Given the description of an element on the screen output the (x, y) to click on. 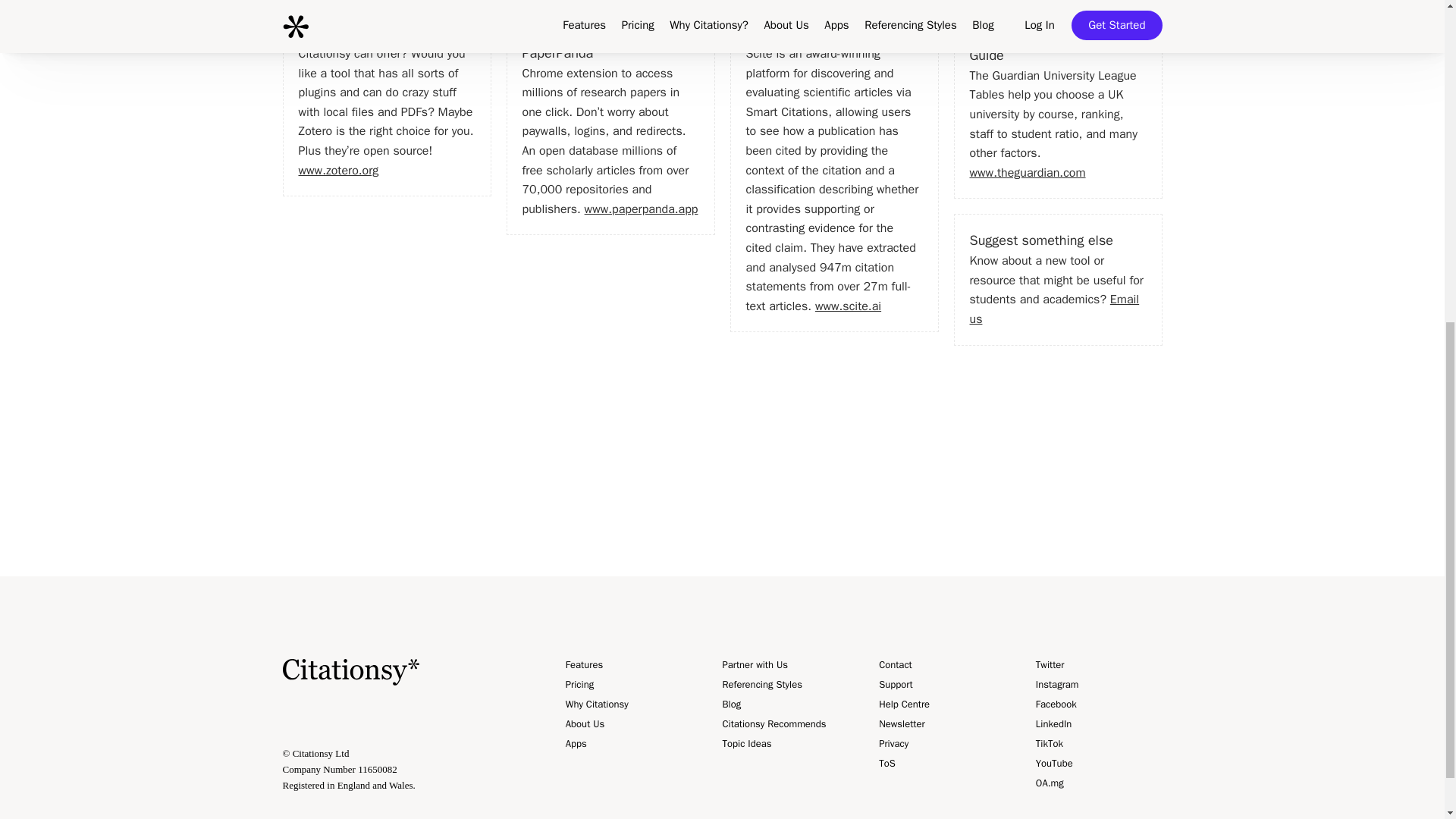
PaperPanda (556, 53)
www.zotero.org (338, 170)
www.paperpanda.app (641, 209)
Zotero (317, 13)
